Given the description of an element on the screen output the (x, y) to click on. 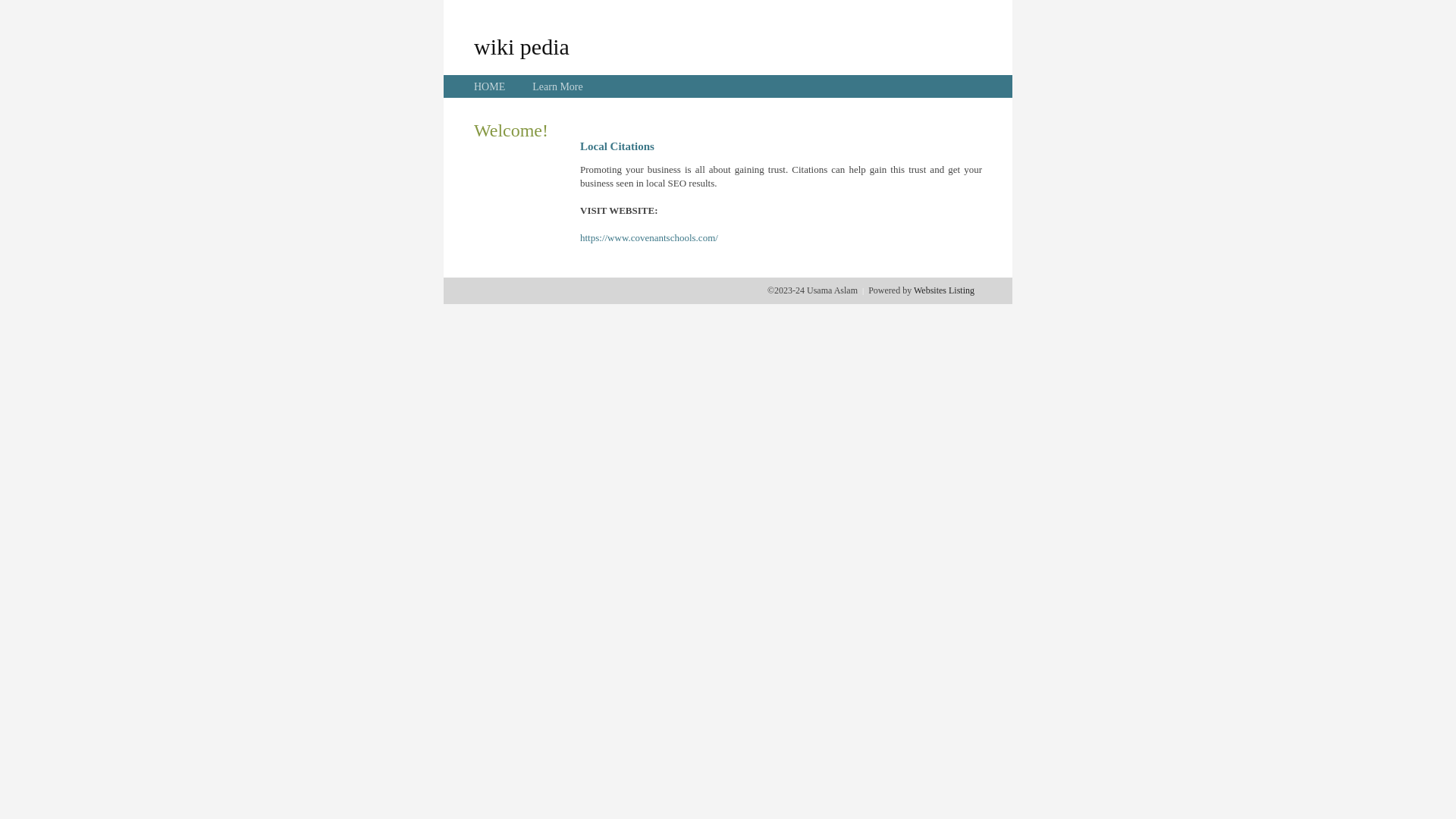
https://www.covenantschools.com/ Element type: text (649, 237)
Websites Listing Element type: text (943, 290)
wiki pedia Element type: text (521, 46)
HOME Element type: text (489, 86)
Learn More Element type: text (557, 86)
